Given the description of an element on the screen output the (x, y) to click on. 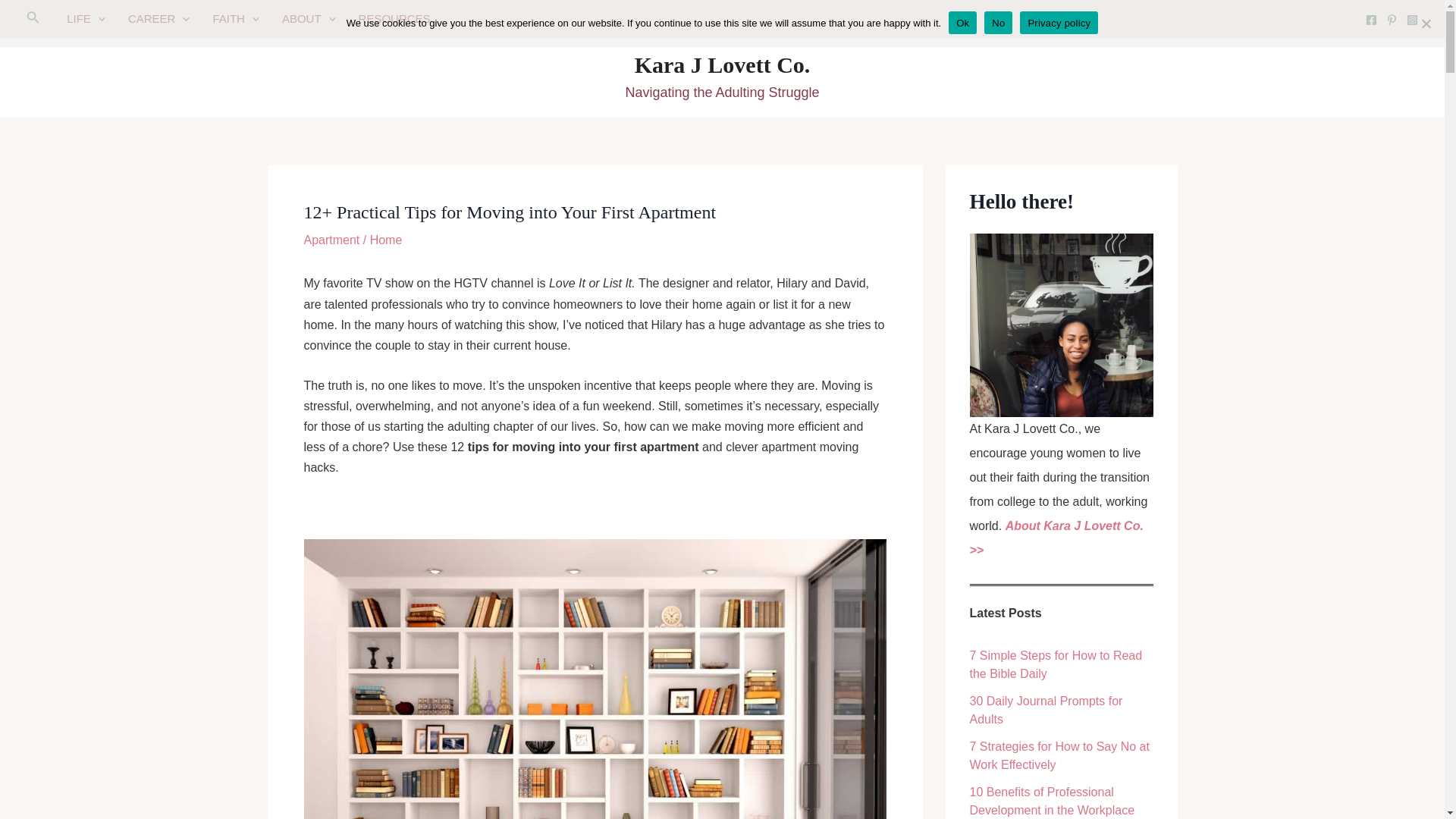
LIFE (85, 18)
FAITH (235, 18)
ABOUT (308, 18)
CAREER (159, 18)
Kara J Lovett Co. (722, 64)
RESOURCES (394, 18)
No (1425, 23)
